Given the description of an element on the screen output the (x, y) to click on. 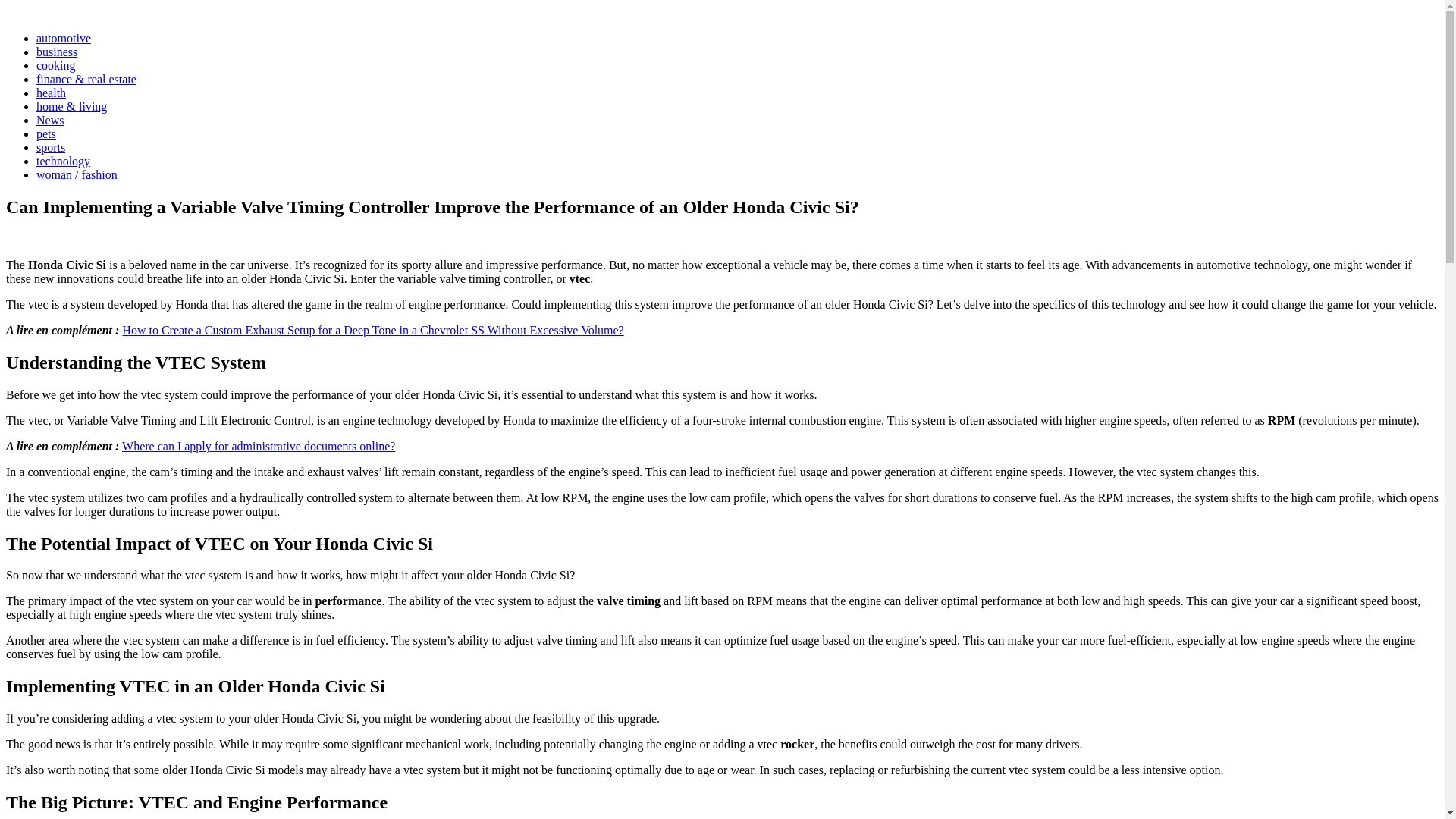
cooking (55, 65)
pets (46, 133)
Where can I apply for administrative documents online? (258, 445)
Where can I apply for administrative documents online? (258, 445)
business (56, 51)
News (50, 119)
sports (50, 146)
automotive (63, 38)
technology (63, 160)
health (50, 92)
